Given the description of an element on the screen output the (x, y) to click on. 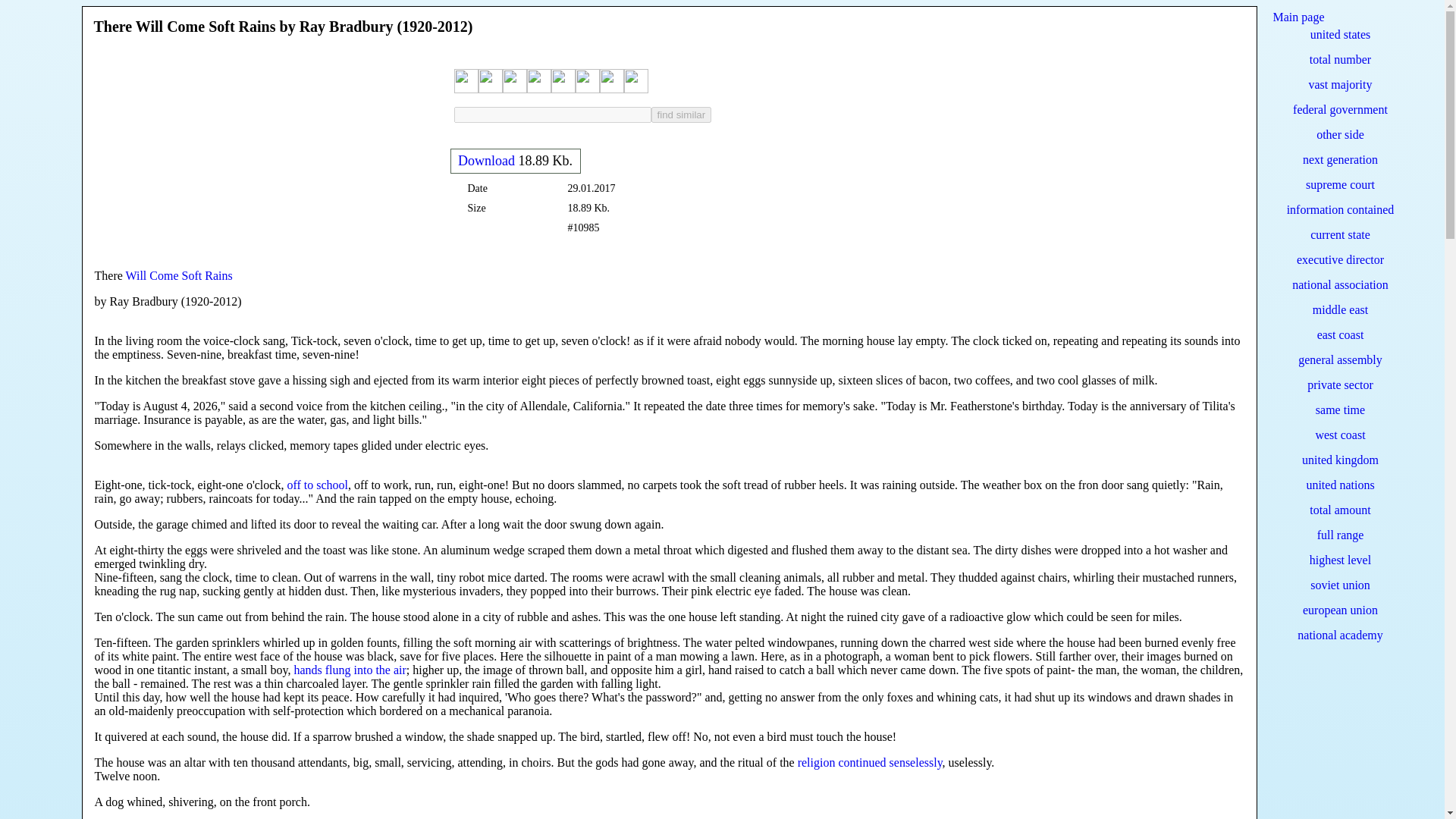
find similar (680, 114)
hands flung into the air (350, 669)
Will Come Soft Rains (178, 275)
religion continued senselessly (869, 762)
Download (486, 160)
find similar (680, 114)
off to school (316, 484)
